Given the description of an element on the screen output the (x, y) to click on. 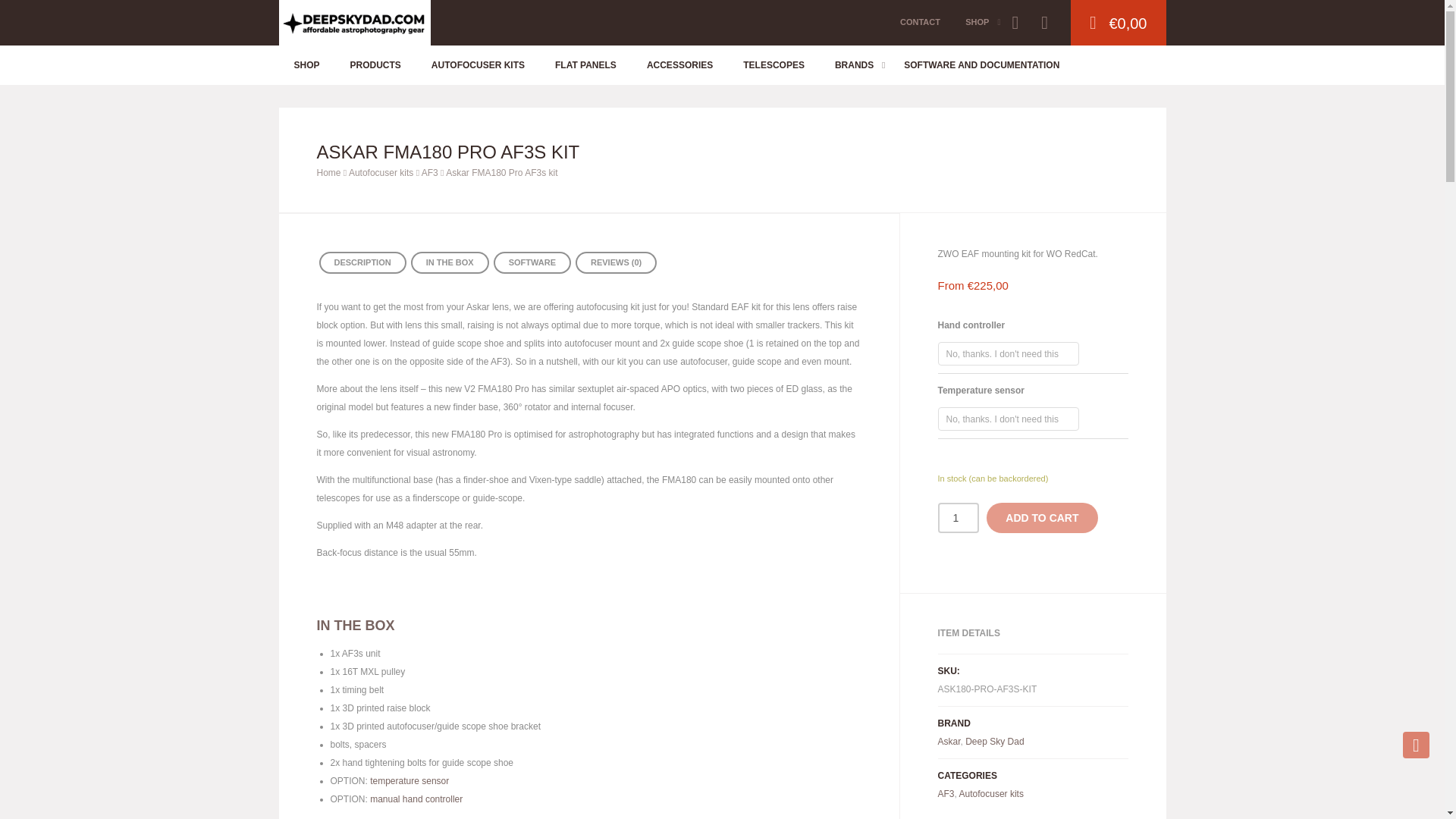
PRODUCTS (375, 64)
ACCESSORIES (679, 64)
1 (957, 517)
AUTOFOCUSER KITS (478, 64)
TELESCOPES (773, 64)
SOFTWARE AND DOCUMENTATION (981, 64)
BRANDS (853, 64)
FLAT PANELS (585, 64)
CONTACT (920, 22)
SHOP (976, 22)
